Given the description of an element on the screen output the (x, y) to click on. 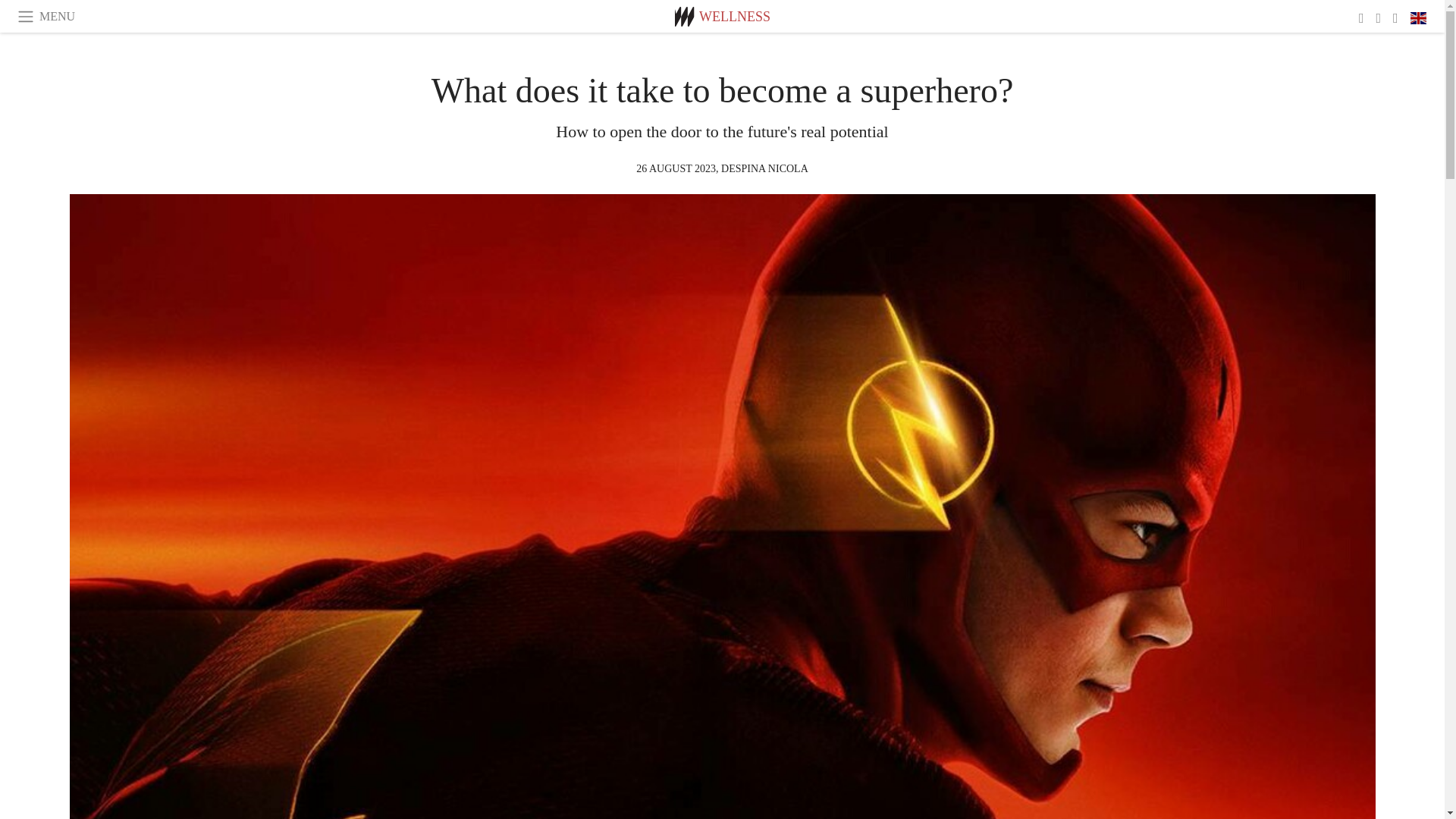
WELLNESS (734, 16)
